Given the description of an element on the screen output the (x, y) to click on. 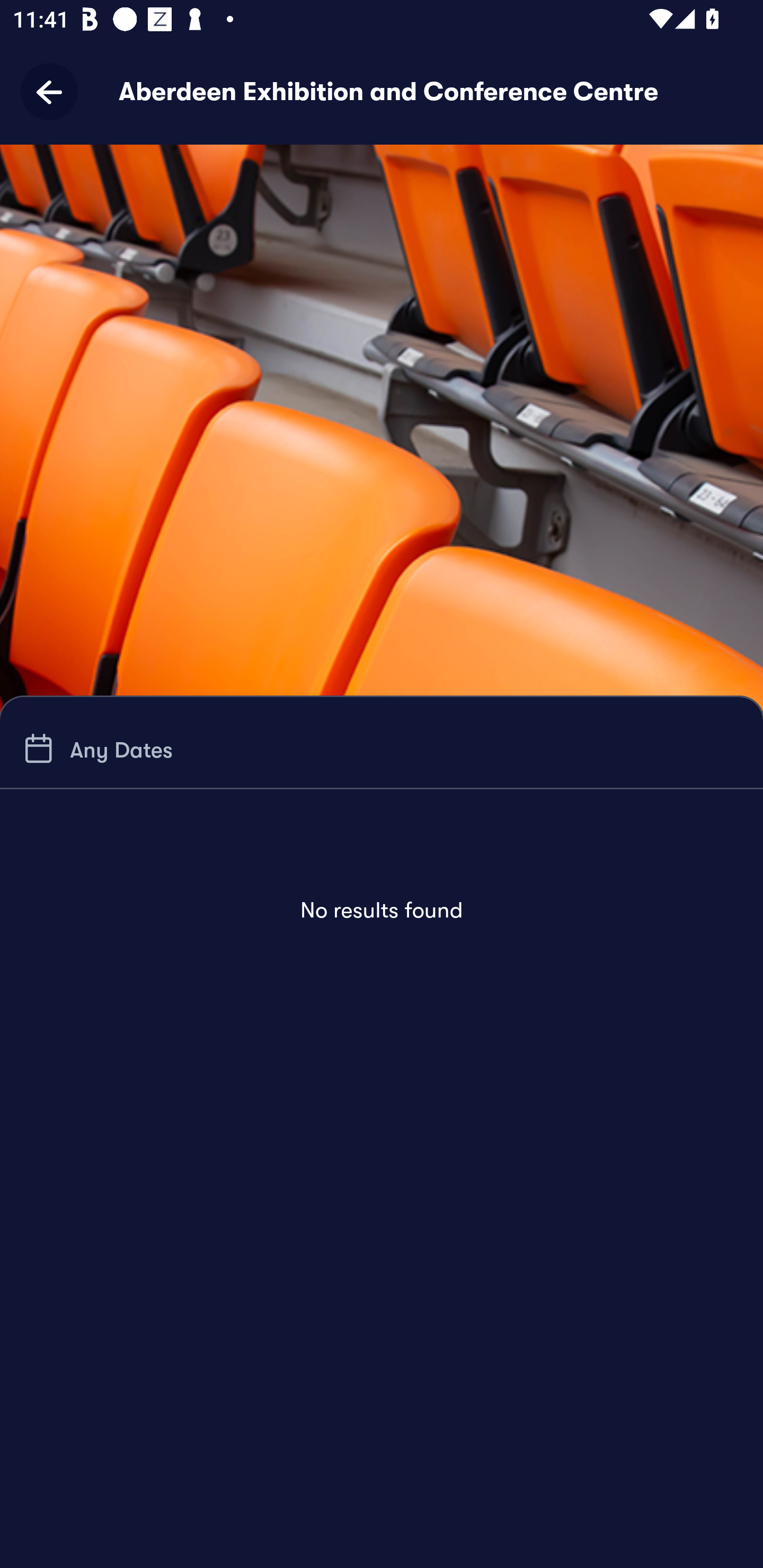
Any Dates (95, 749)
